Given the description of an element on the screen output the (x, y) to click on. 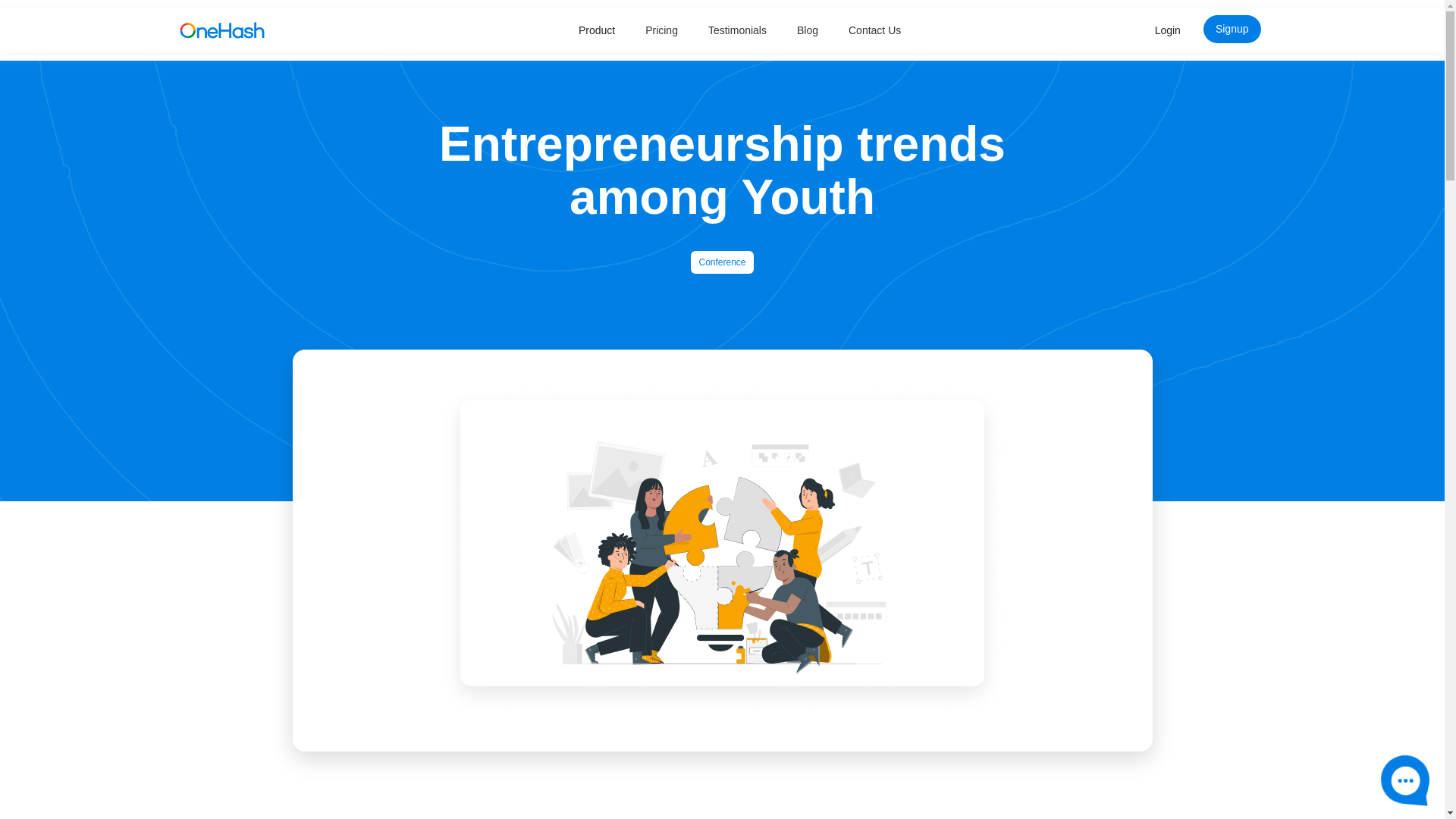
Pricing (661, 30)
Open chat window (1402, 776)
Blog (806, 30)
Testimonials (737, 30)
Contact Us (873, 30)
Signup (1232, 29)
